Given the description of an element on the screen output the (x, y) to click on. 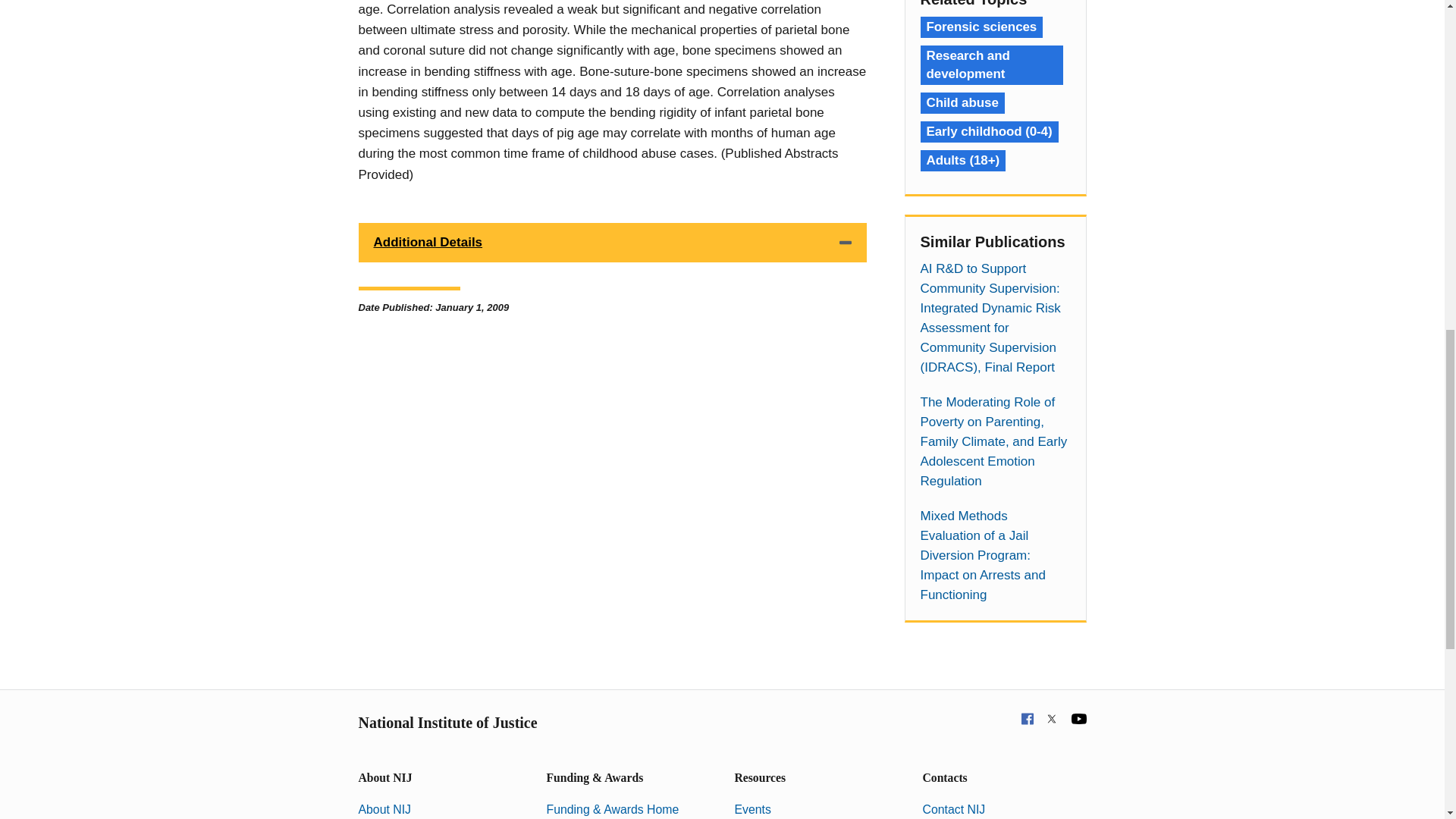
Additional Details (612, 242)
